Given the description of an element on the screen output the (x, y) to click on. 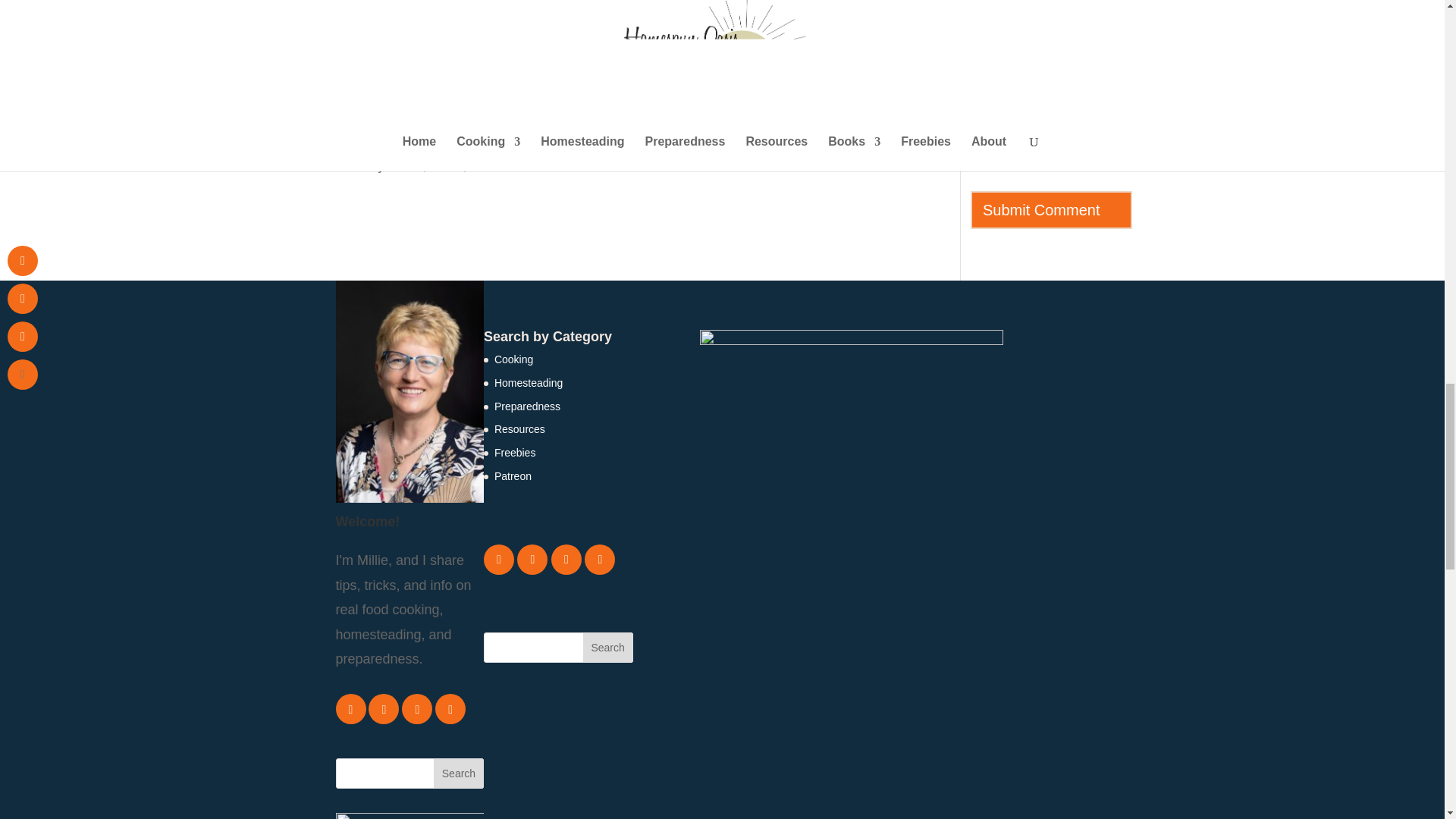
Submit Comment (1051, 209)
Submit Comment (1051, 209)
yes (319, 164)
Search (608, 647)
Search (458, 773)
